Given the description of an element on the screen output the (x, y) to click on. 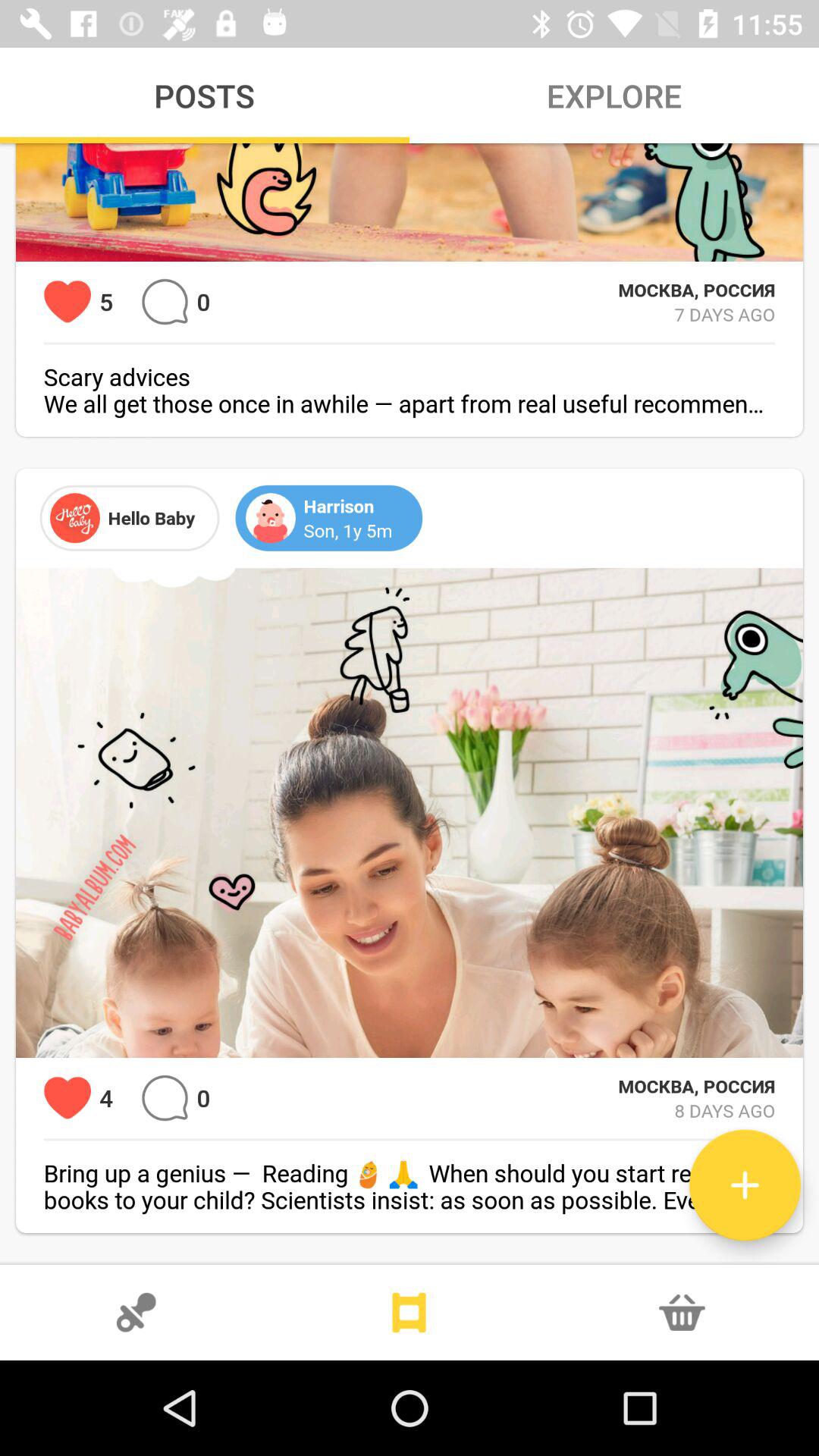
leave a comment (164, 301)
